Given the description of an element on the screen output the (x, y) to click on. 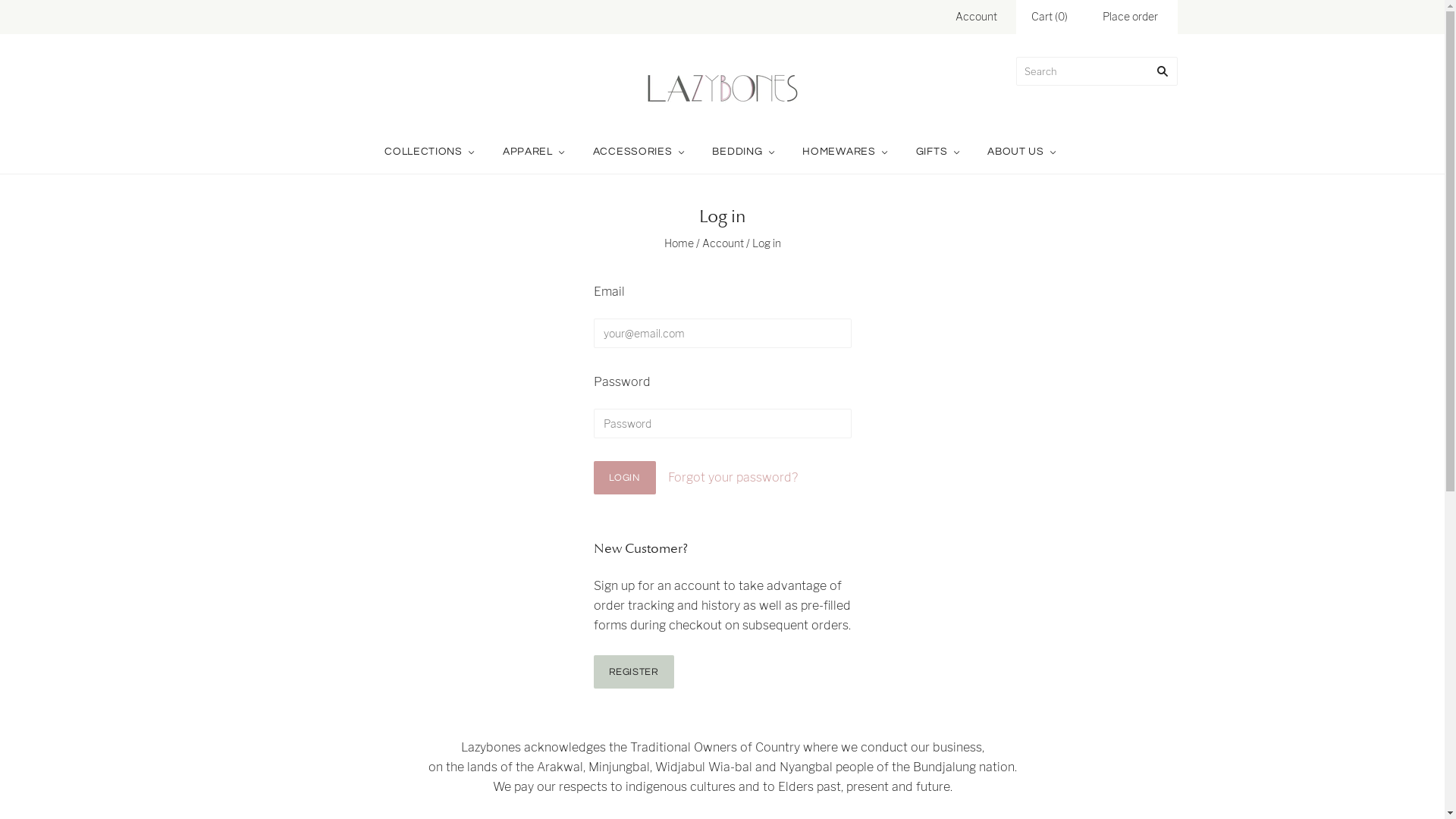
Account Element type: text (976, 15)
Place order Element type: text (1130, 16)
ABOUT US Element type: text (1023, 151)
APPAREL Element type: text (535, 151)
Account Element type: text (722, 242)
Cart (0) Element type: text (1049, 16)
BEDDING Element type: text (744, 151)
Home Element type: text (678, 242)
Login Element type: text (624, 477)
GIFTS Element type: text (939, 151)
ACCESSORIES Element type: text (640, 151)
COLLECTIONS Element type: text (431, 151)
HOMEWARES Element type: text (846, 151)
REGISTER Element type: text (633, 671)
